Given the description of an element on the screen output the (x, y) to click on. 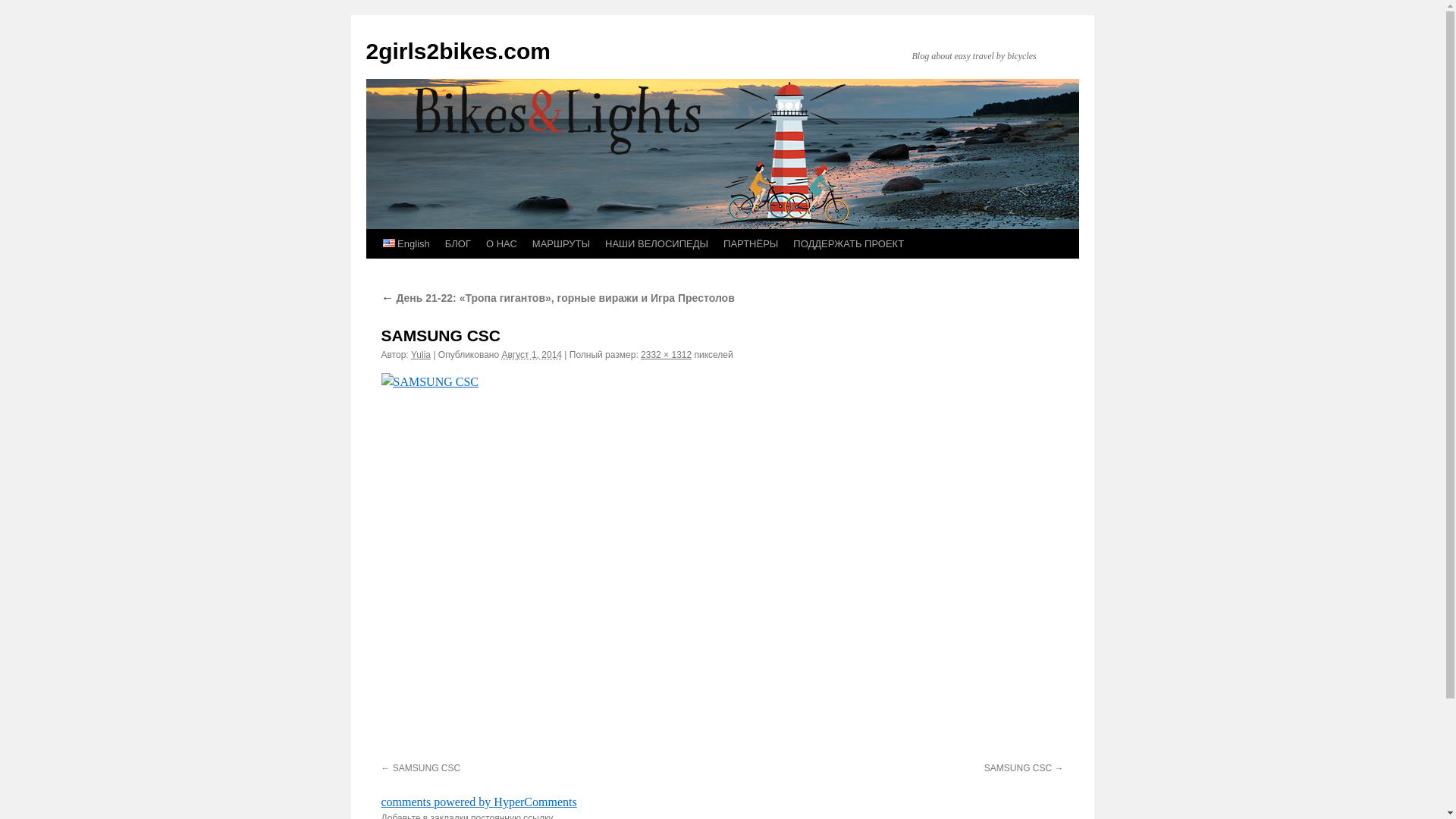
Yulia Element type: text (420, 354)
SAMSUNG CSC Element type: text (420, 767)
English Element type: hover (388, 242)
SAMSUNG CSC Element type: text (1023, 767)
 English Element type: text (405, 243)
comments powered by HyperComments Element type: text (478, 801)
SAMSUNG CSC Element type: hover (721, 564)
2girls2bikes.com Element type: text (457, 50)
